Given the description of an element on the screen output the (x, y) to click on. 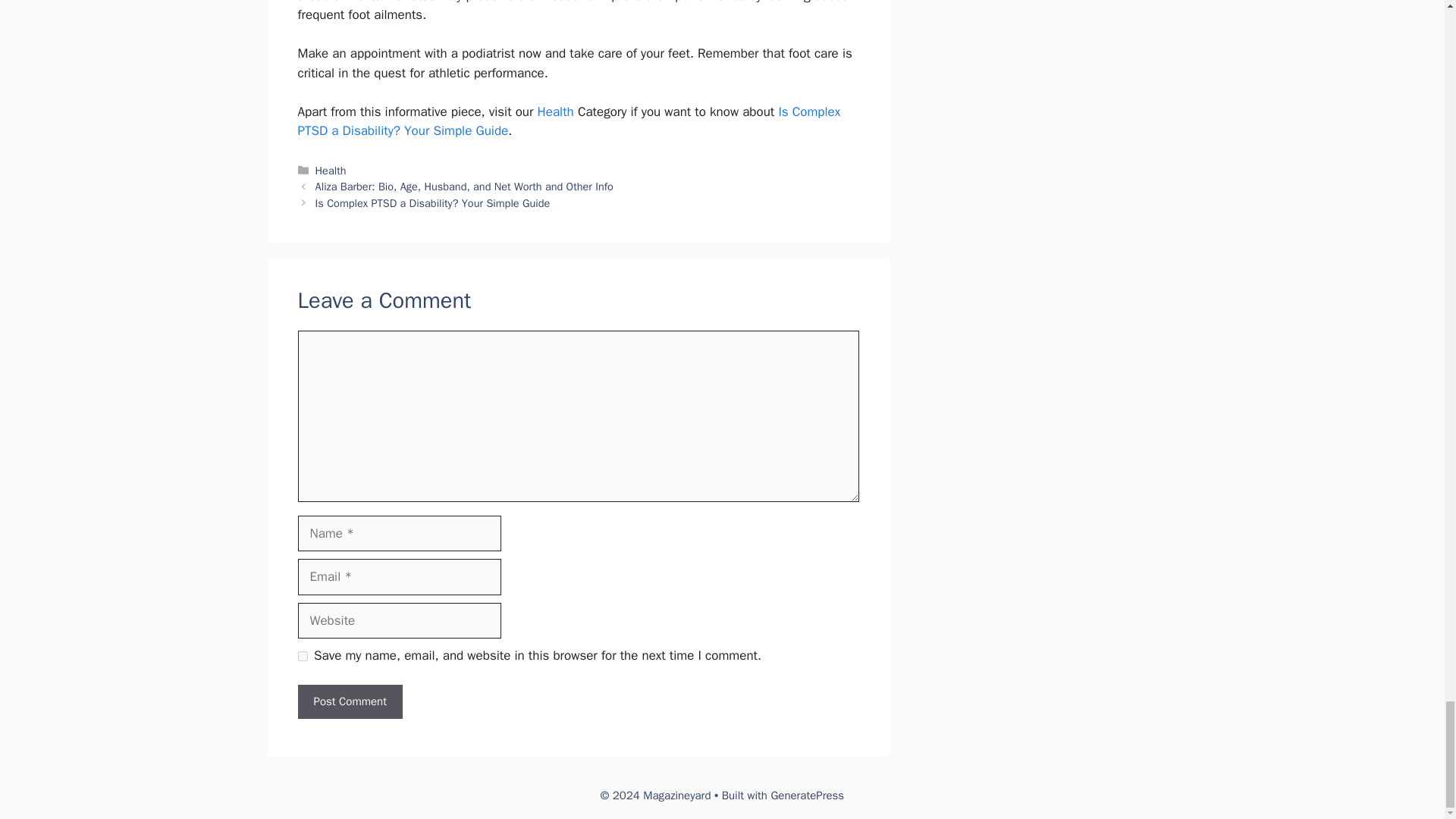
yes (302, 655)
Is C (788, 111)
Post Comment (349, 701)
omplex PTSD a Disability? Your Simple Guide (568, 121)
Health (330, 169)
Health (555, 111)
GeneratePress (807, 795)
Post Comment (349, 701)
Is Complex PTSD a Disability? Your Simple Guide (432, 202)
